Given the description of an element on the screen output the (x, y) to click on. 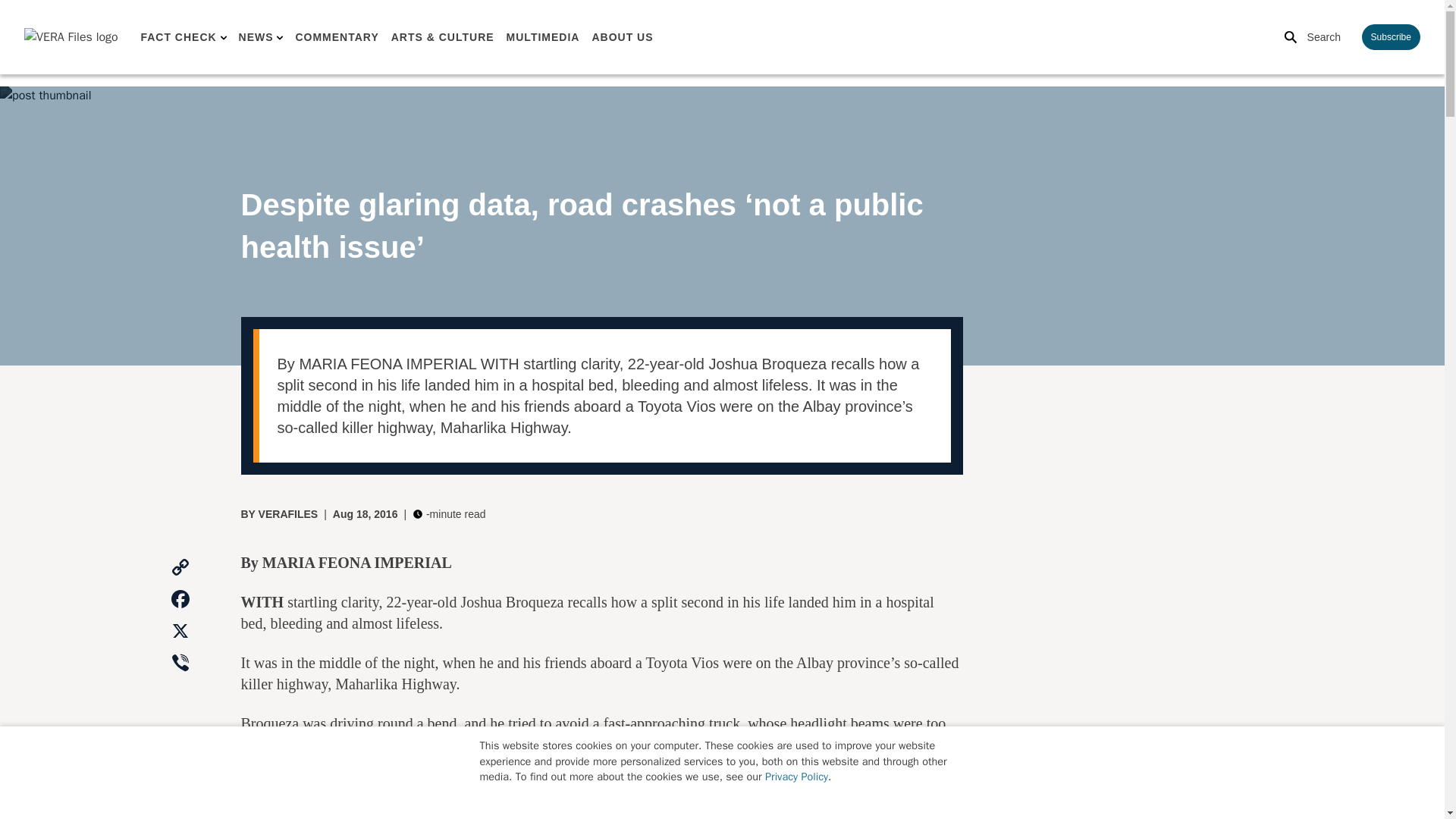
X (180, 631)
Viber (180, 663)
COMMENTARY (336, 37)
MULTIMEDIA (542, 37)
Copy Link (180, 567)
Subscribe (1391, 36)
Facebook (180, 599)
NEWS (255, 37)
Facebook (180, 599)
Viber (180, 663)
Copy Link (180, 567)
X (180, 631)
ABOUT US (621, 37)
FACT CHECK (177, 37)
